Given the description of an element on the screen output the (x, y) to click on. 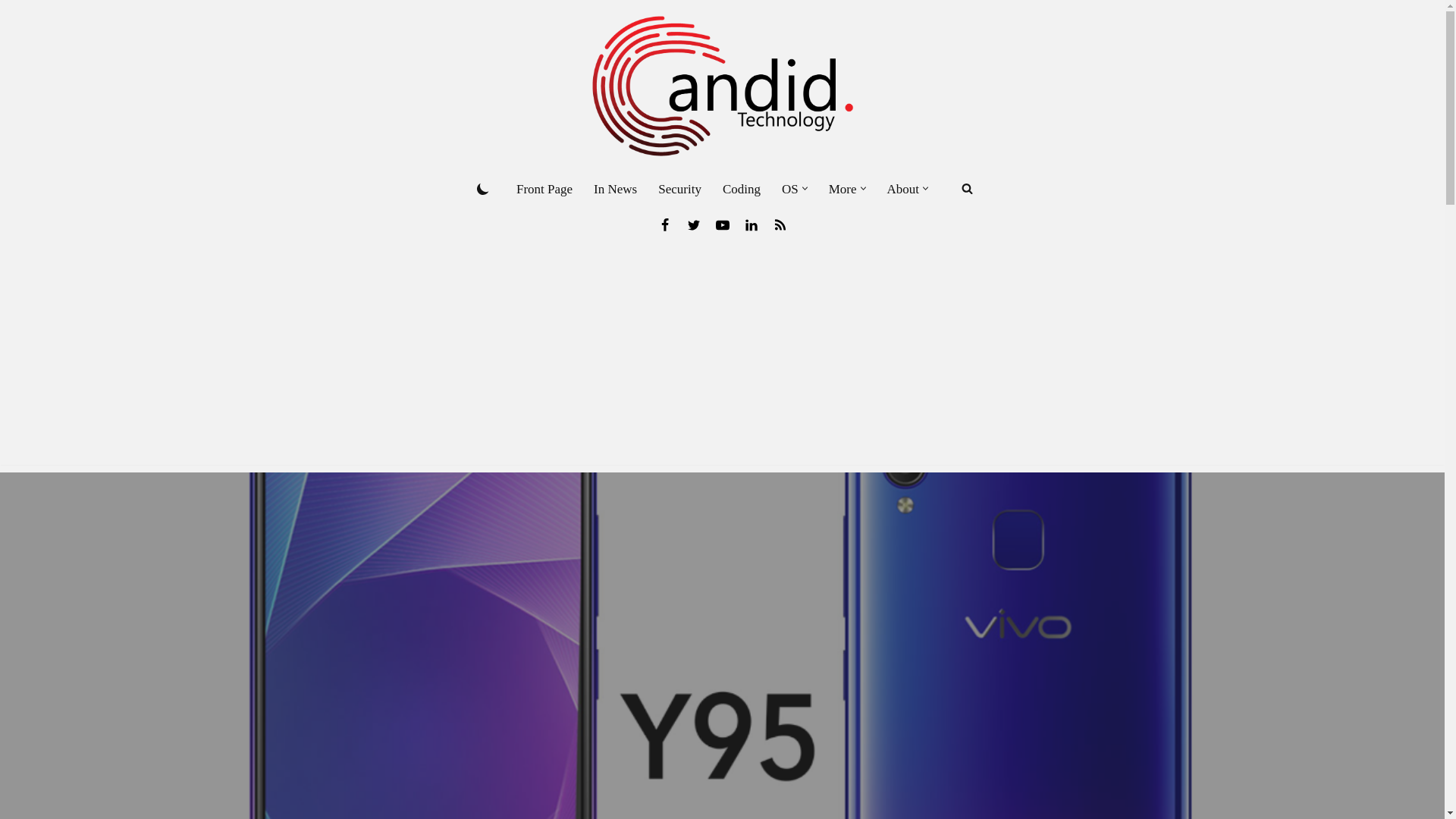
Youtube (721, 224)
Twitter (692, 224)
Front Page (544, 188)
News (779, 224)
About (903, 188)
Skip to content (11, 31)
More (842, 188)
In News (615, 188)
Coding (741, 188)
Linkedin (750, 224)
